Given the description of an element on the screen output the (x, y) to click on. 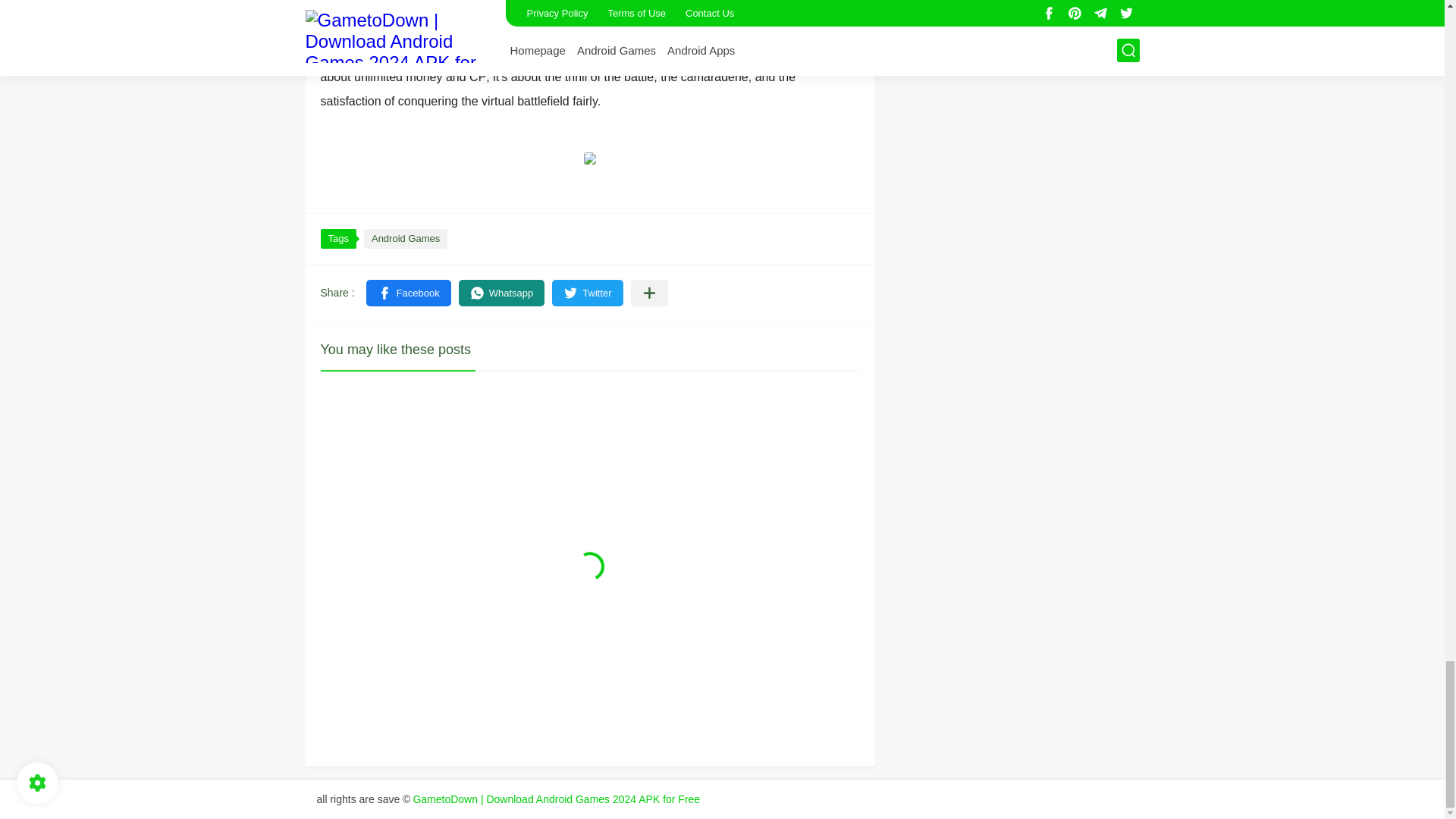
Android Games (405, 238)
here (496, 5)
Android Games (405, 238)
